Given the description of an element on the screen output the (x, y) to click on. 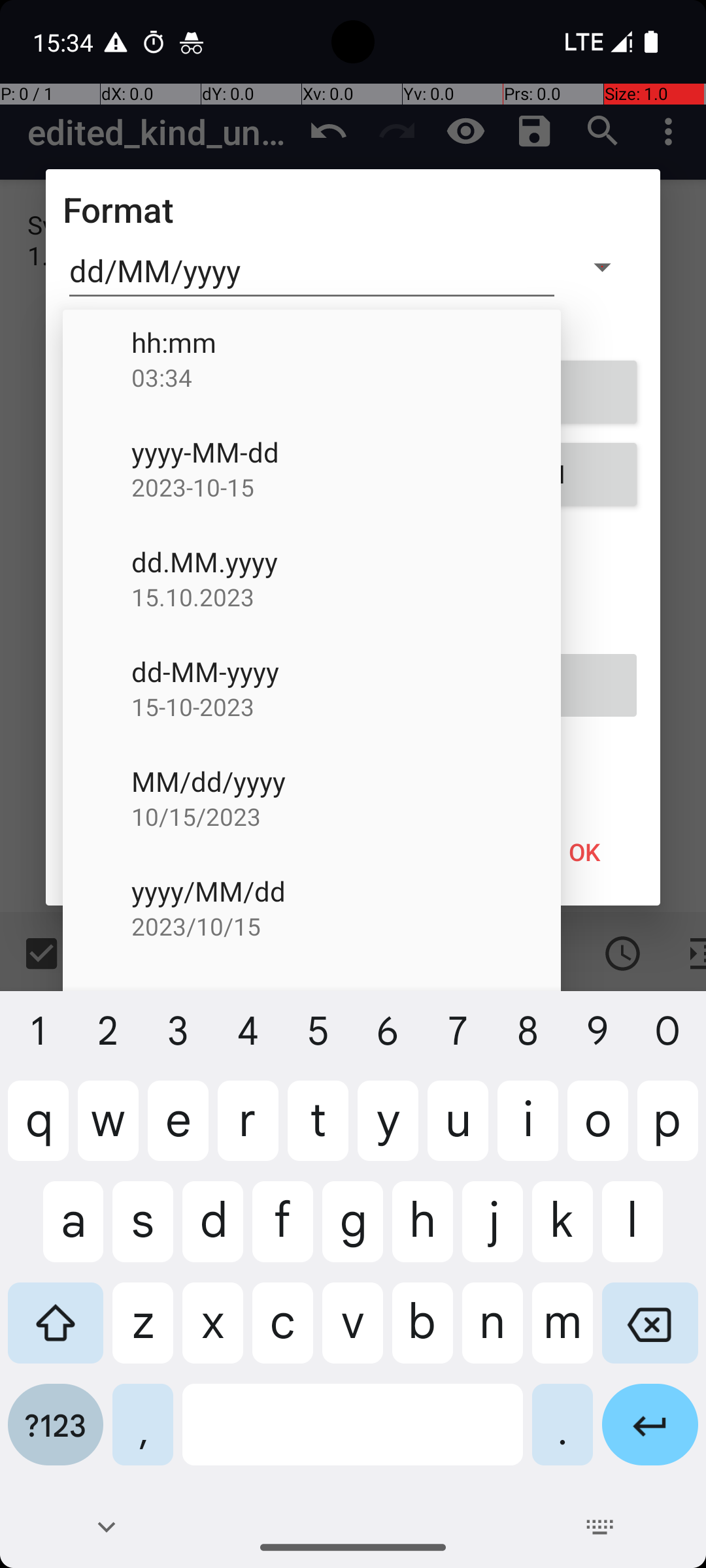
hh:mm Element type: android.widget.TextView (345, 341)
03:34 Element type: android.widget.TextView (345, 376)
yyyy-MM-dd Element type: android.widget.TextView (345, 451)
2023-10-15 Element type: android.widget.TextView (345, 486)
dd.MM.yyyy Element type: android.widget.TextView (345, 561)
15.10.2023 Element type: android.widget.TextView (345, 596)
dd-MM-yyyy Element type: android.widget.TextView (345, 670)
15-10-2023 Element type: android.widget.TextView (345, 706)
MM/dd/yyyy Element type: android.widget.TextView (345, 780)
10/15/2023 Element type: android.widget.TextView (345, 816)
yyyy/MM/dd Element type: android.widget.TextView (345, 890)
2023/10/15 Element type: android.widget.TextView (345, 925)
MMM yyyy Element type: android.widget.TextView (345, 1000)
Chrome notification: Incognito Tabs Element type: android.widget.ImageView (191, 41)
